Given the description of an element on the screen output the (x, y) to click on. 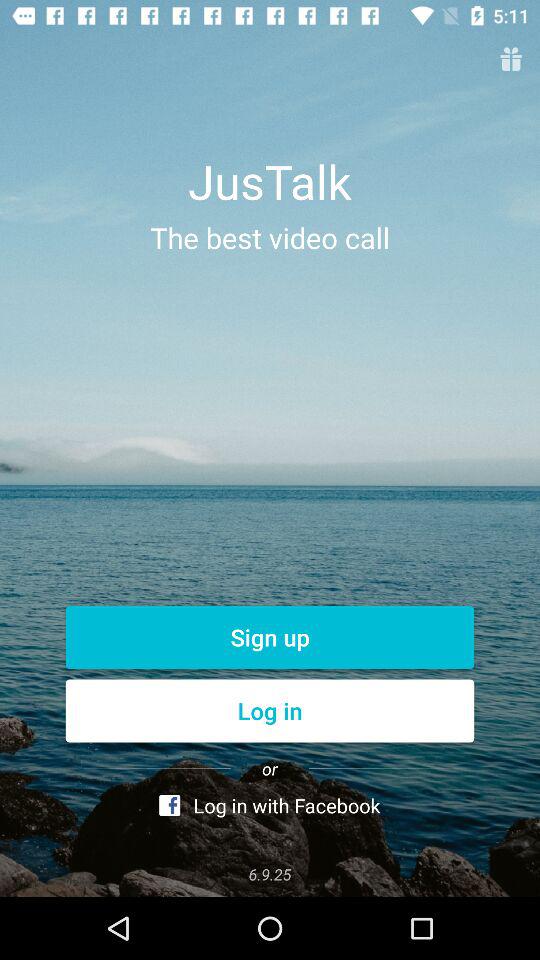
open gift coupon (510, 60)
